Given the description of an element on the screen output the (x, y) to click on. 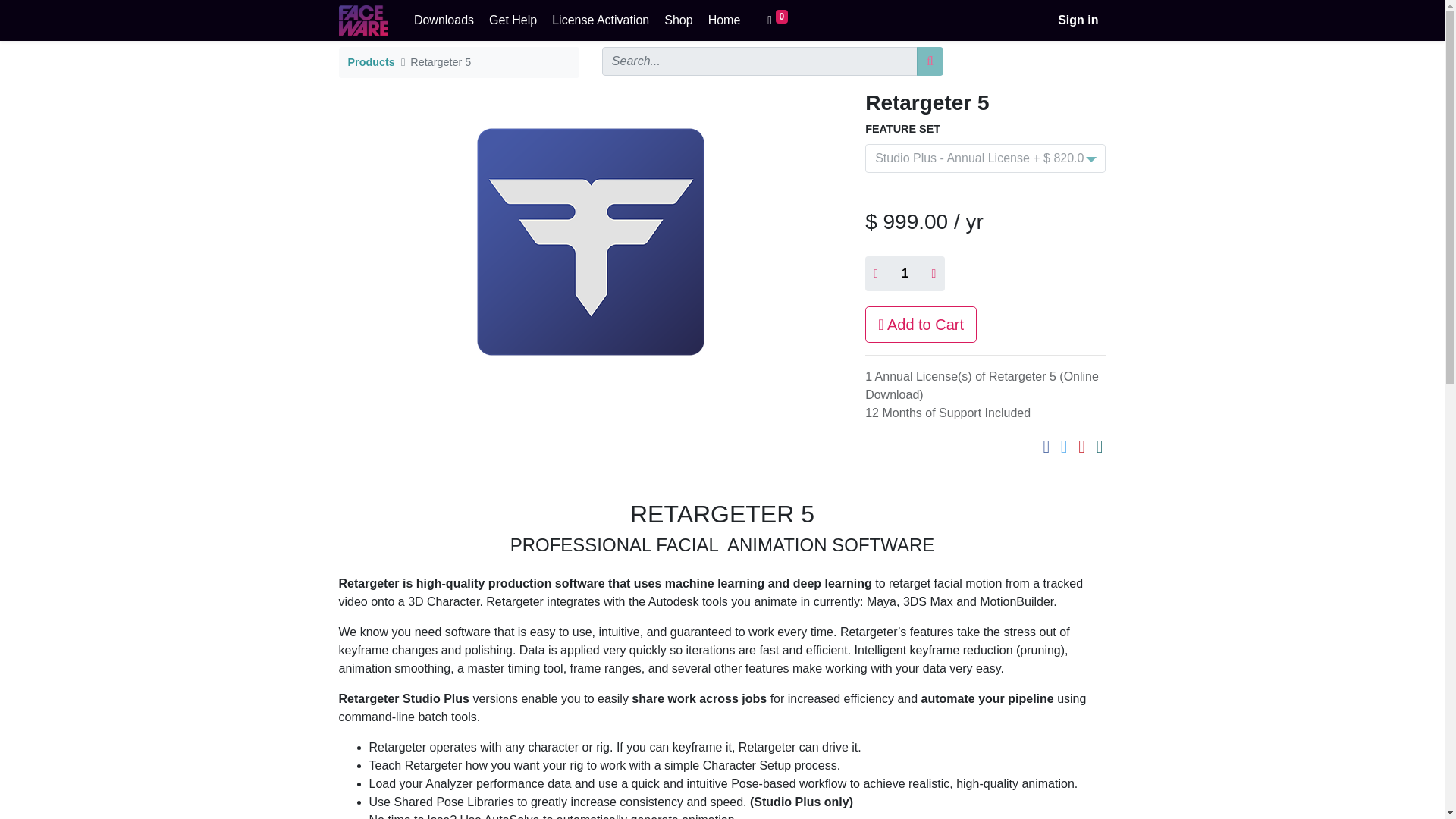
0 (777, 20)
Downloads (443, 20)
Get Help (512, 20)
Faceware Technologies (362, 20)
1 (904, 273)
Add to Cart (920, 324)
Shop (678, 20)
Home (724, 20)
License Activation (600, 20)
Remove one (875, 273)
Search (930, 61)
Sign in (1077, 20)
Products (370, 61)
Add one (933, 273)
